Given the description of an element on the screen output the (x, y) to click on. 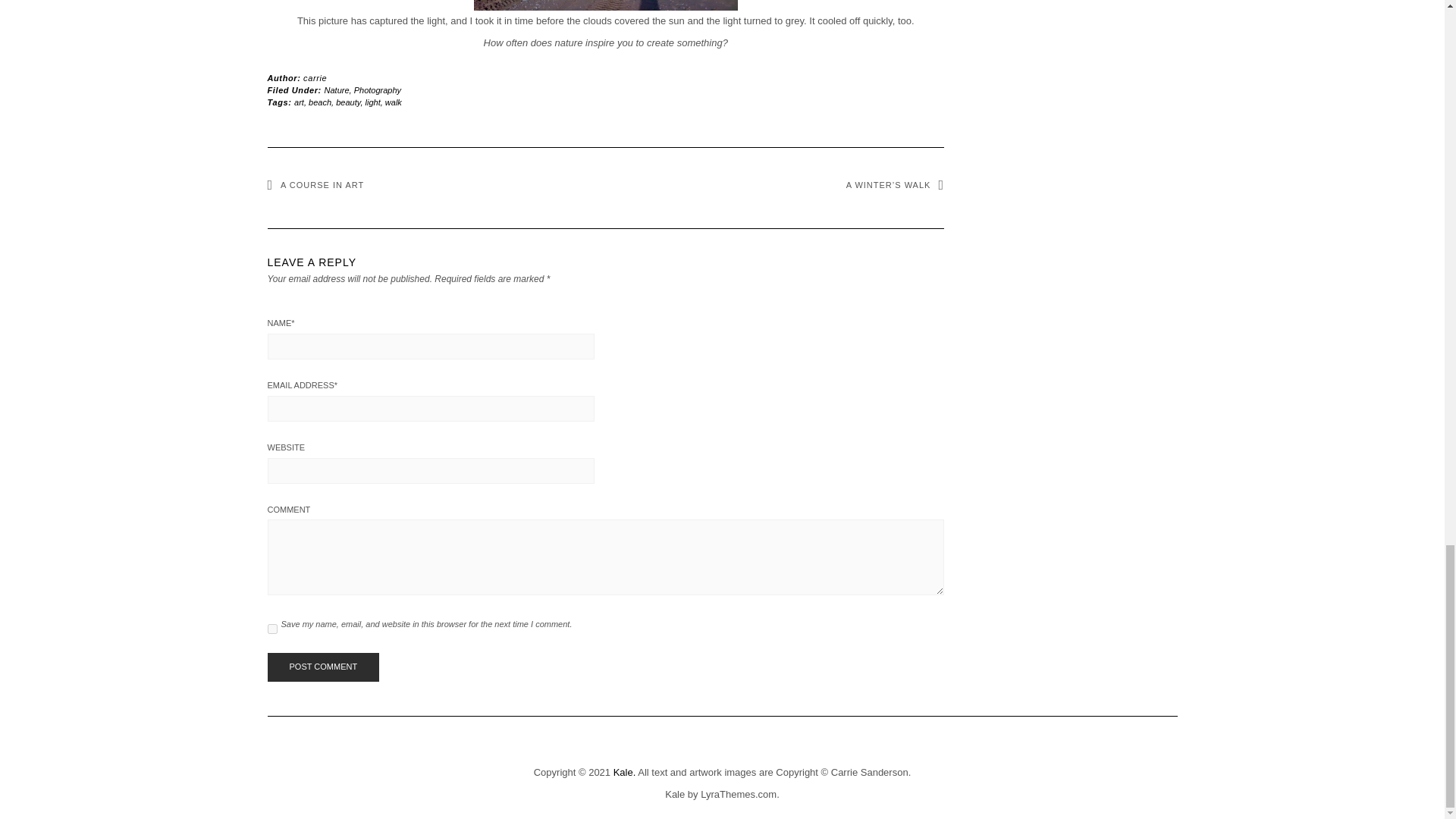
Post Comment (322, 666)
Post Comment (322, 666)
light (372, 102)
carrie (314, 77)
Photography (377, 90)
Nature (336, 90)
Posts by carrie (314, 77)
yes (271, 628)
beauty (347, 102)
A COURSE IN ART (315, 184)
walk (393, 102)
beach (319, 102)
art (299, 102)
